Given the description of an element on the screen output the (x, y) to click on. 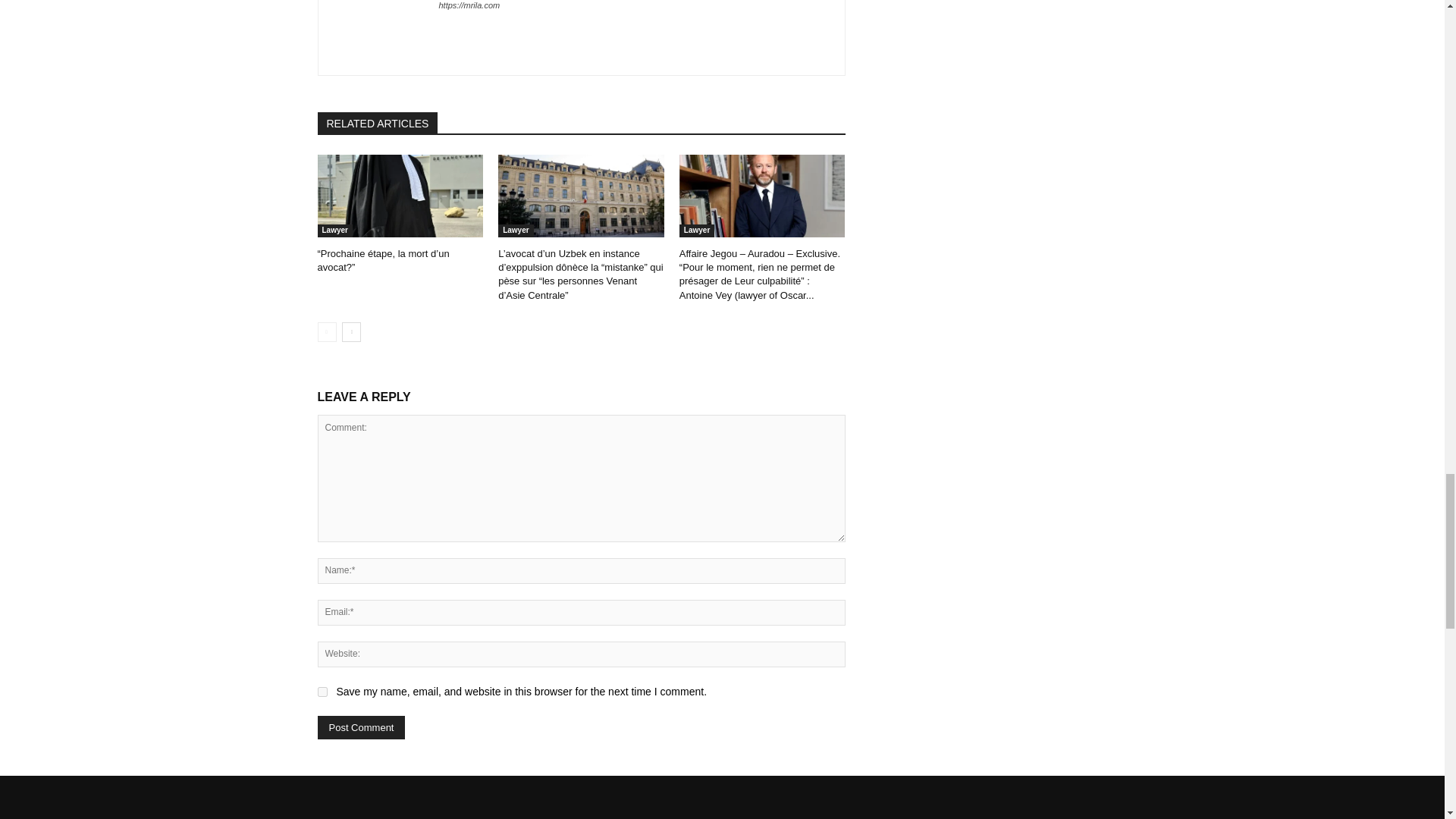
Post Comment (360, 727)
yes (321, 691)
